Given the description of an element on the screen output the (x, y) to click on. 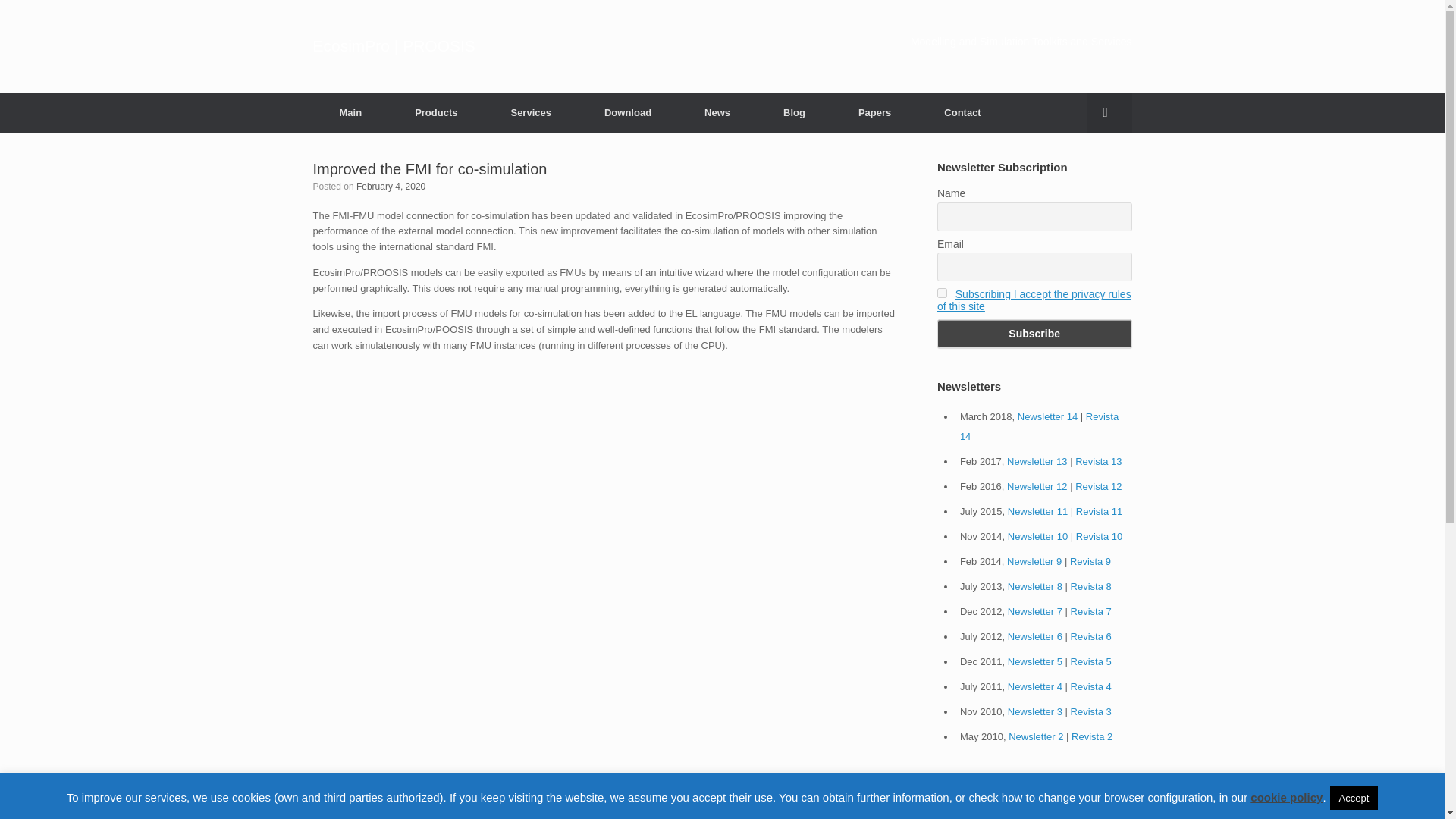
12:11 pm (390, 185)
Newsletter 11 (1037, 511)
Subscribe (1034, 333)
Revista 5 (1091, 661)
Revista 8 (1091, 586)
Download (628, 112)
Newsletter 10 (1037, 536)
Newsletter 14 (1047, 416)
Revista 11 (1098, 511)
Revista 3 (1091, 711)
